Given the description of an element on the screen output the (x, y) to click on. 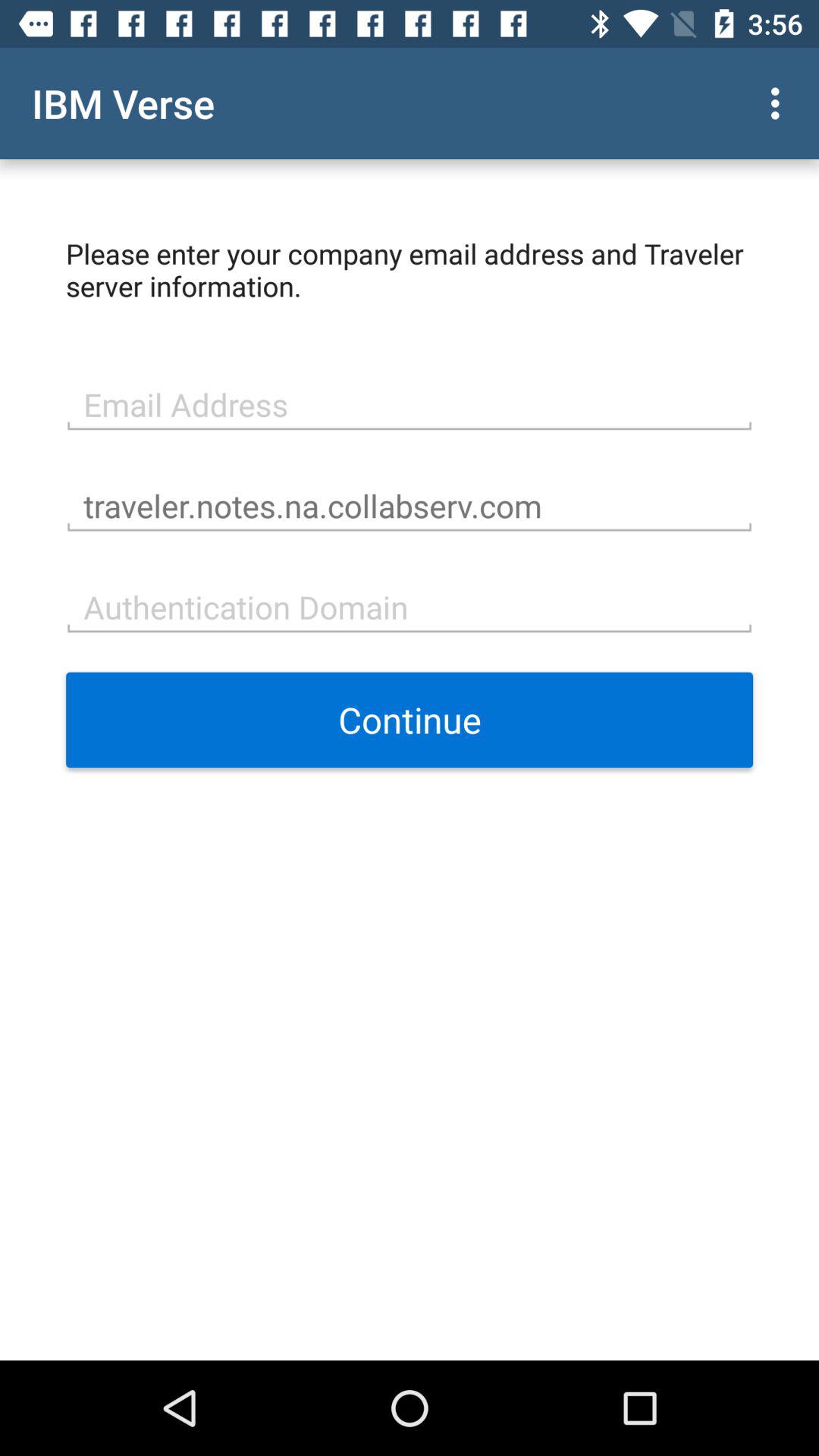
press the item above please enter your (779, 103)
